Given the description of an element on the screen output the (x, y) to click on. 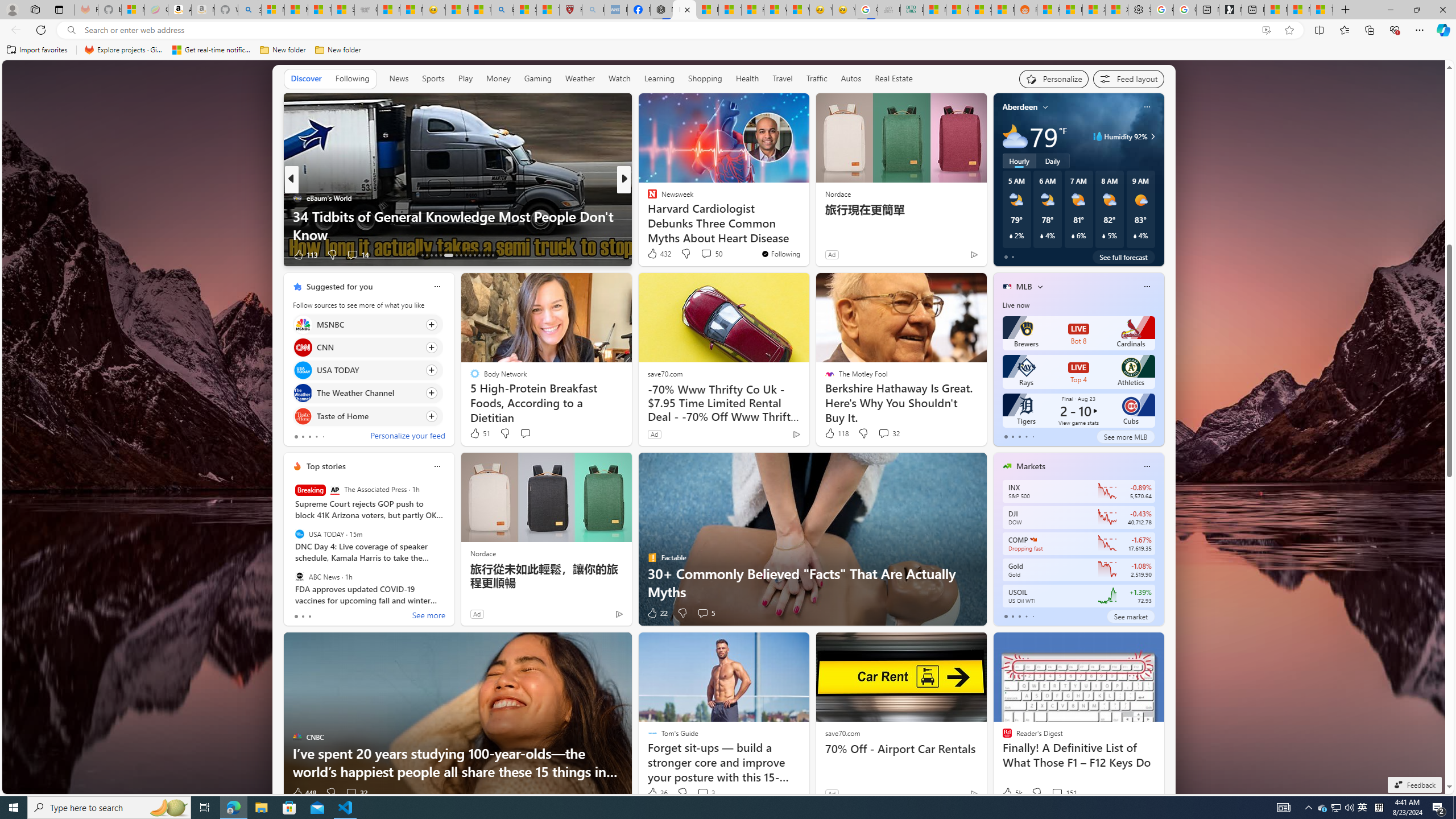
26 Like (652, 254)
Weather (580, 79)
View comments 28 Comment (704, 254)
AutomationID: tab-75 (470, 255)
View comments 50 Comment (705, 253)
View comments 3 Comment (705, 792)
View comments 5 Comment (705, 612)
